Given the description of an element on the screen output the (x, y) to click on. 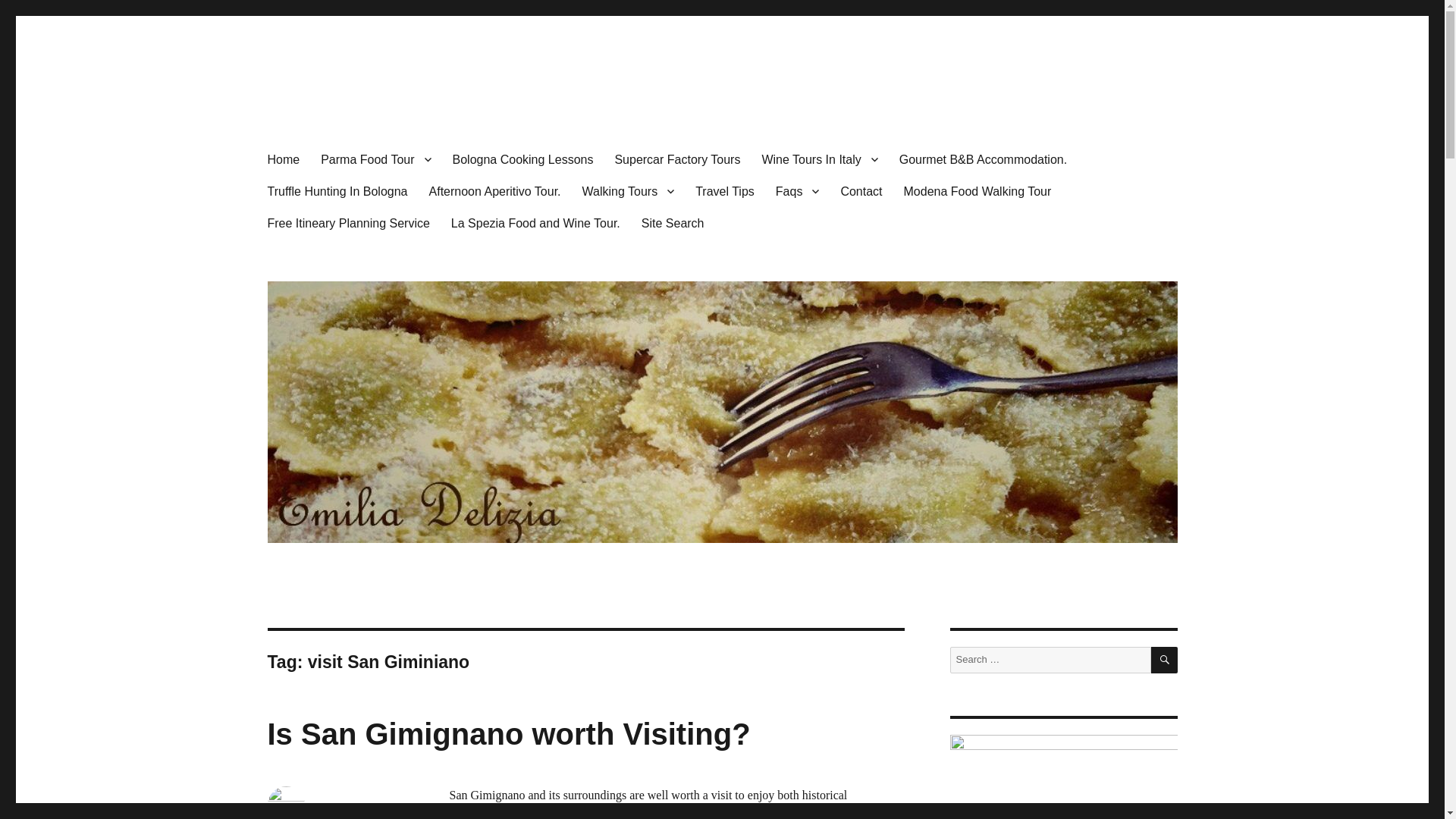
Free Itineary Planning Service (347, 223)
Emilia Delizia (334, 114)
Parma Food Tour (375, 159)
Bologna Cooking Lessons (523, 159)
Afternoon Aperitivo Tour. (495, 191)
Home (283, 159)
Is San Gimignano worth Visiting? (507, 734)
Site Search (672, 223)
Supercar Factory Tours (677, 159)
Walking Tours (628, 191)
